Given the description of an element on the screen output the (x, y) to click on. 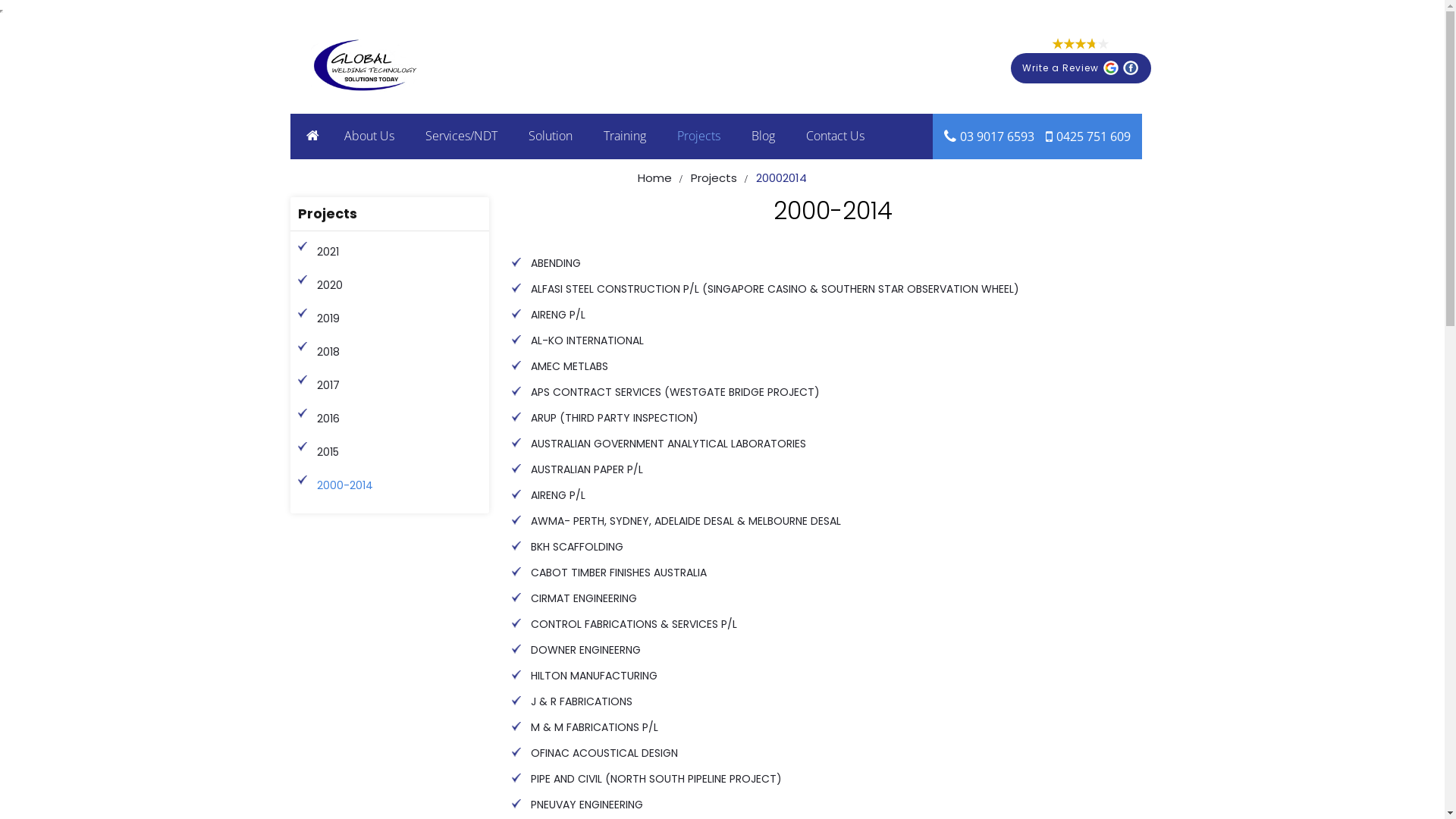
0425 751 609 Element type: text (1092, 136)
Training Element type: text (624, 136)
2018 Element type: text (399, 351)
Services/NDT Element type: text (460, 136)
2019 Element type: text (399, 318)
Blog Element type: text (762, 136)
2000-2014 Element type: text (399, 485)
About Us Element type: text (369, 136)
Home Element type: text (654, 177)
2021 Element type: text (399, 251)
03 9017 6593 Element type: text (997, 136)
Contact Us Element type: text (834, 136)
Projects Element type: text (697, 136)
2017 Element type: text (399, 385)
Projects Element type: text (713, 177)
Solution Element type: text (549, 136)
2015 Element type: text (399, 451)
2020 Element type: text (399, 285)
Home Element type: text (312, 136)
2016 Element type: text (399, 418)
Write a Review Element type: text (1080, 68)
